Given the description of an element on the screen output the (x, y) to click on. 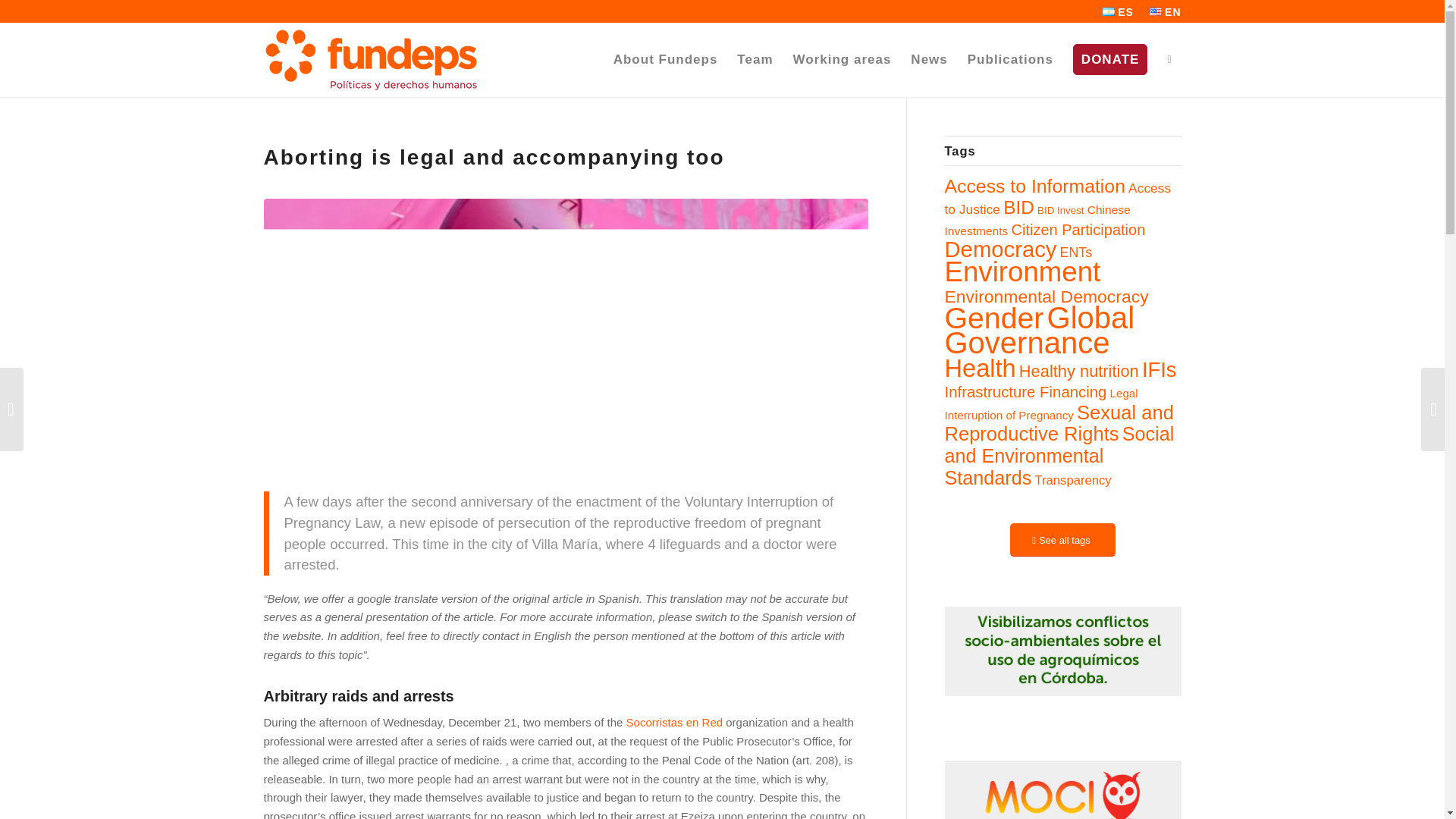
EN (1165, 11)
Access to Justice (1058, 198)
DONATE (1109, 59)
About Fundeps (666, 59)
Access to Information (1034, 186)
Publications (1010, 59)
ES (1118, 11)
Socorristas en Red (674, 721)
Logo (370, 59)
Working areas (842, 59)
